Given the description of an element on the screen output the (x, y) to click on. 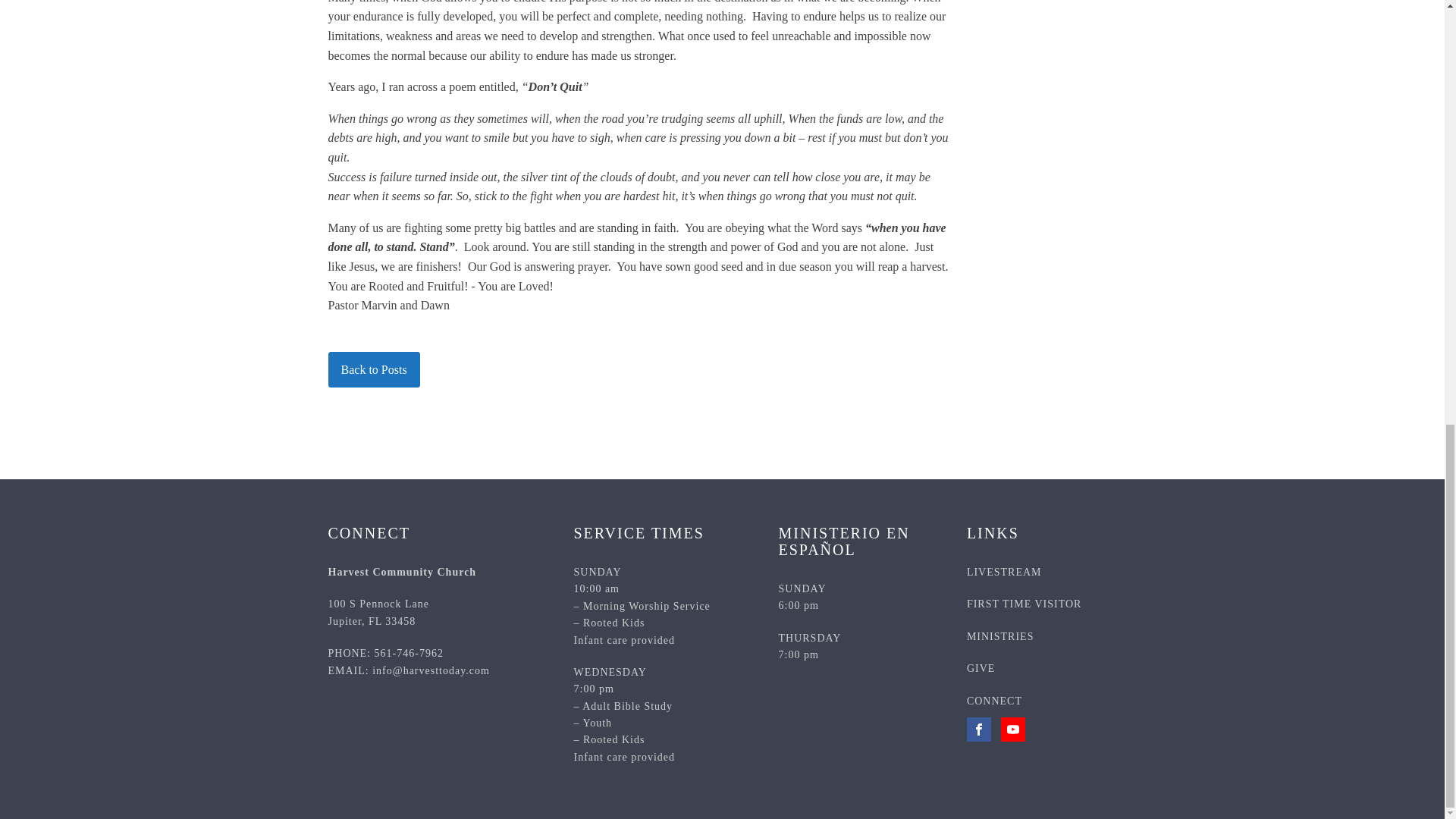
Harvest Community Church (401, 572)
Back to Posts (373, 370)
FIRST TIME VISITOR (1023, 603)
CONNECT (994, 701)
LIVESTREAM (1004, 572)
MINISTRIES (377, 613)
